Given the description of an element on the screen output the (x, y) to click on. 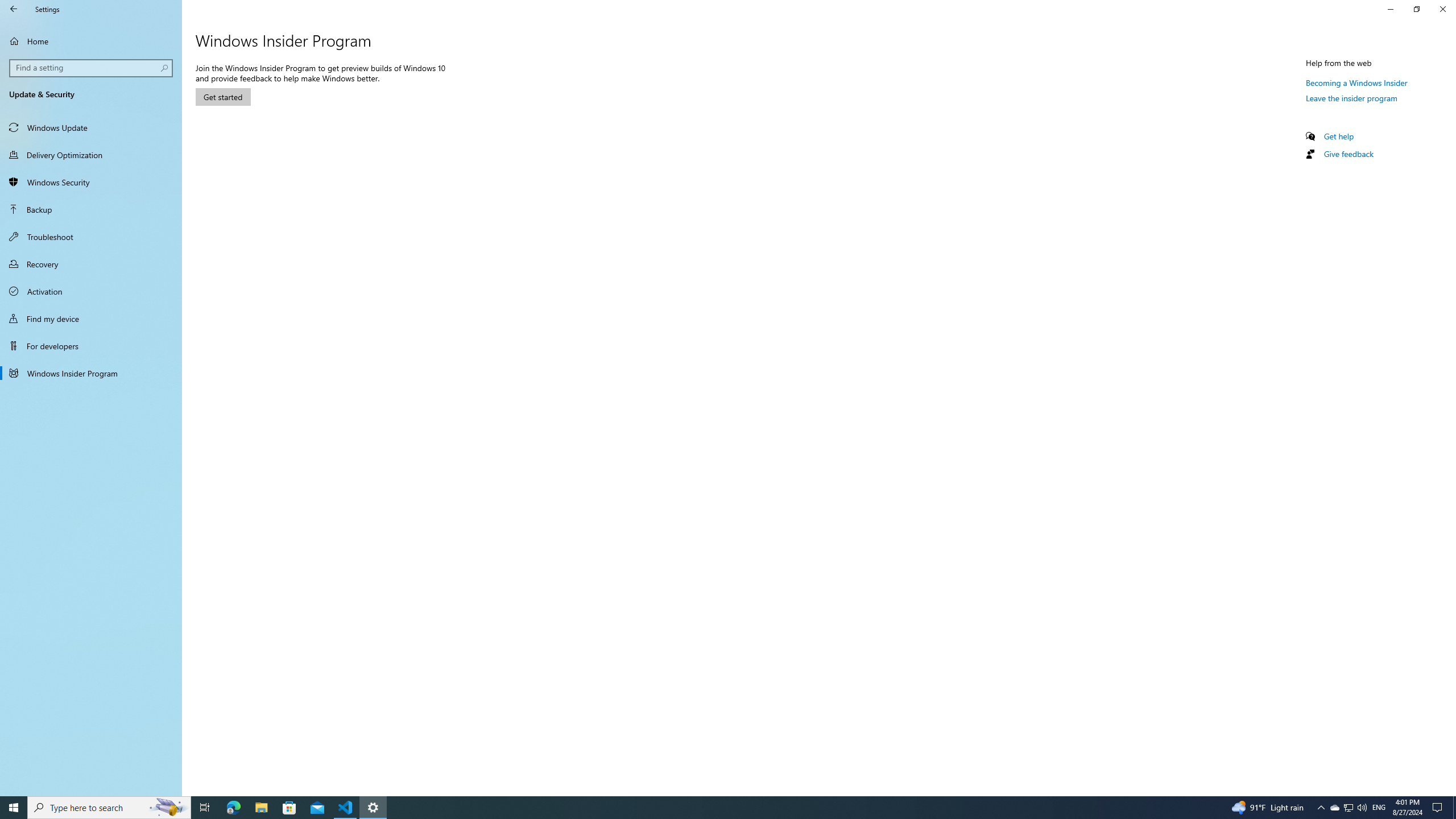
Leave the insider program (1351, 97)
For developers (91, 345)
Windows Insider Program (91, 372)
